Given the description of an element on the screen output the (x, y) to click on. 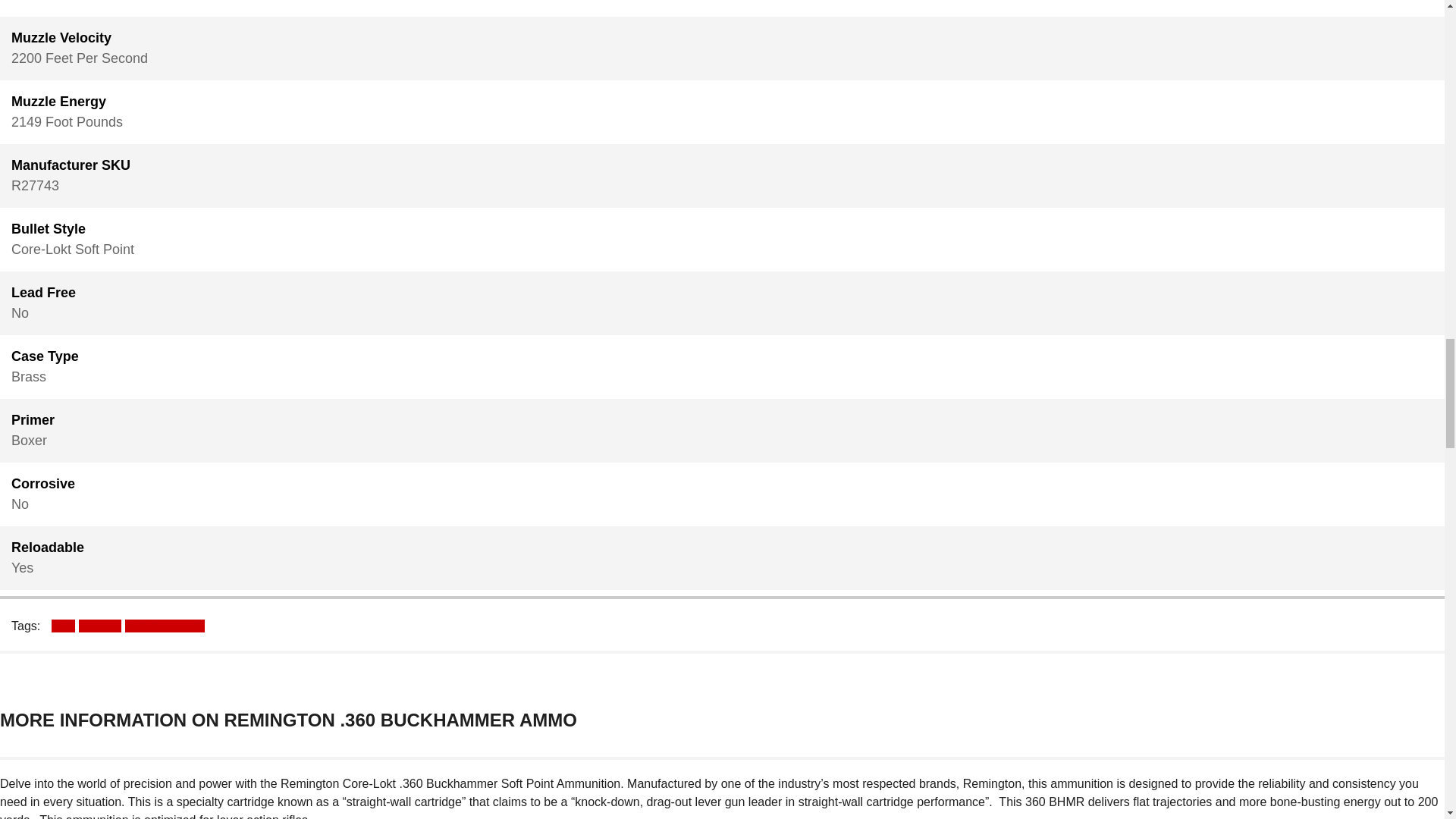
Hunting (100, 625)
Bulk (64, 625)
